Given the description of an element on the screen output the (x, y) to click on. 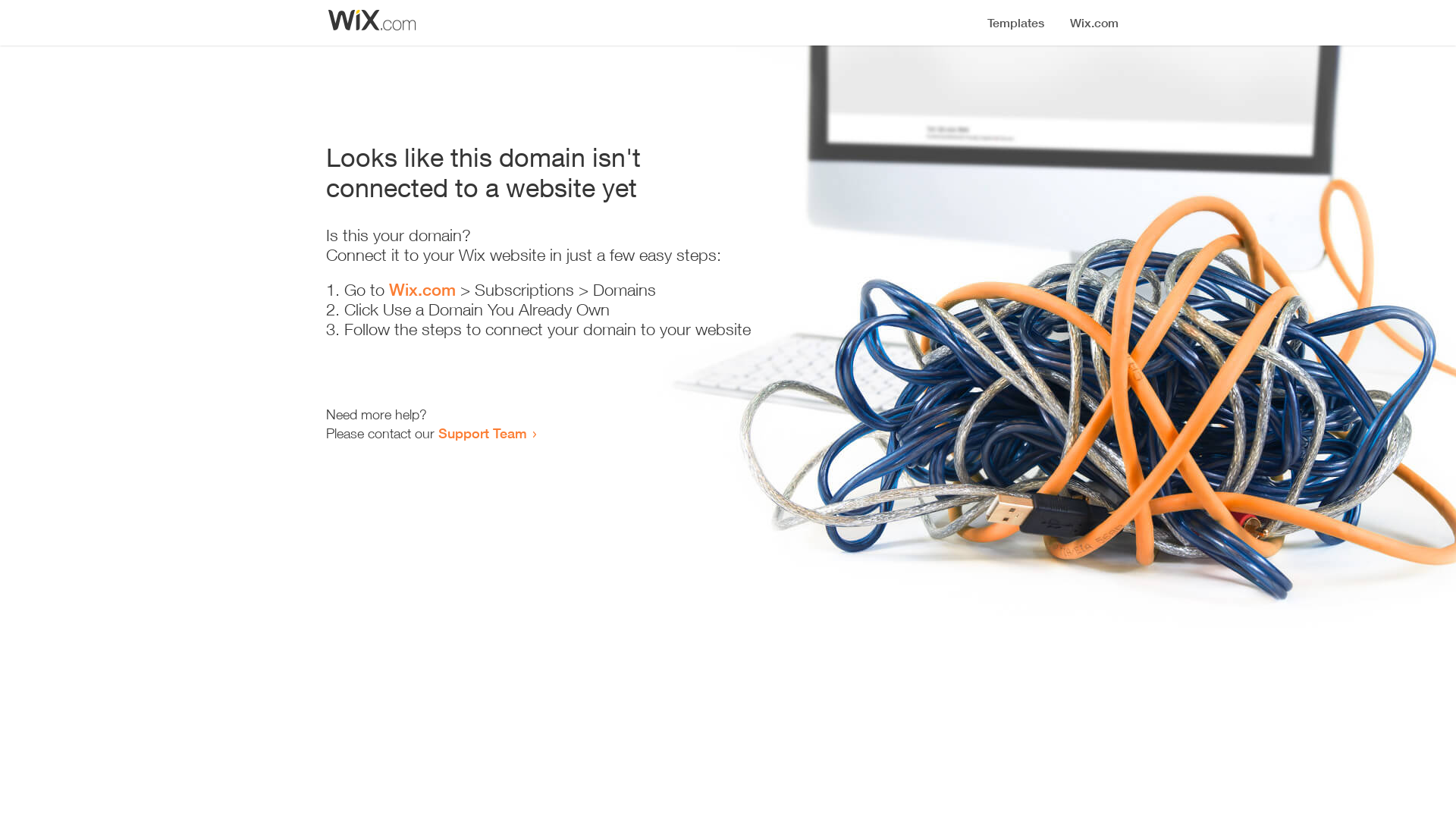
Wix.com Element type: text (422, 289)
Support Team Element type: text (482, 432)
